Given the description of an element on the screen output the (x, y) to click on. 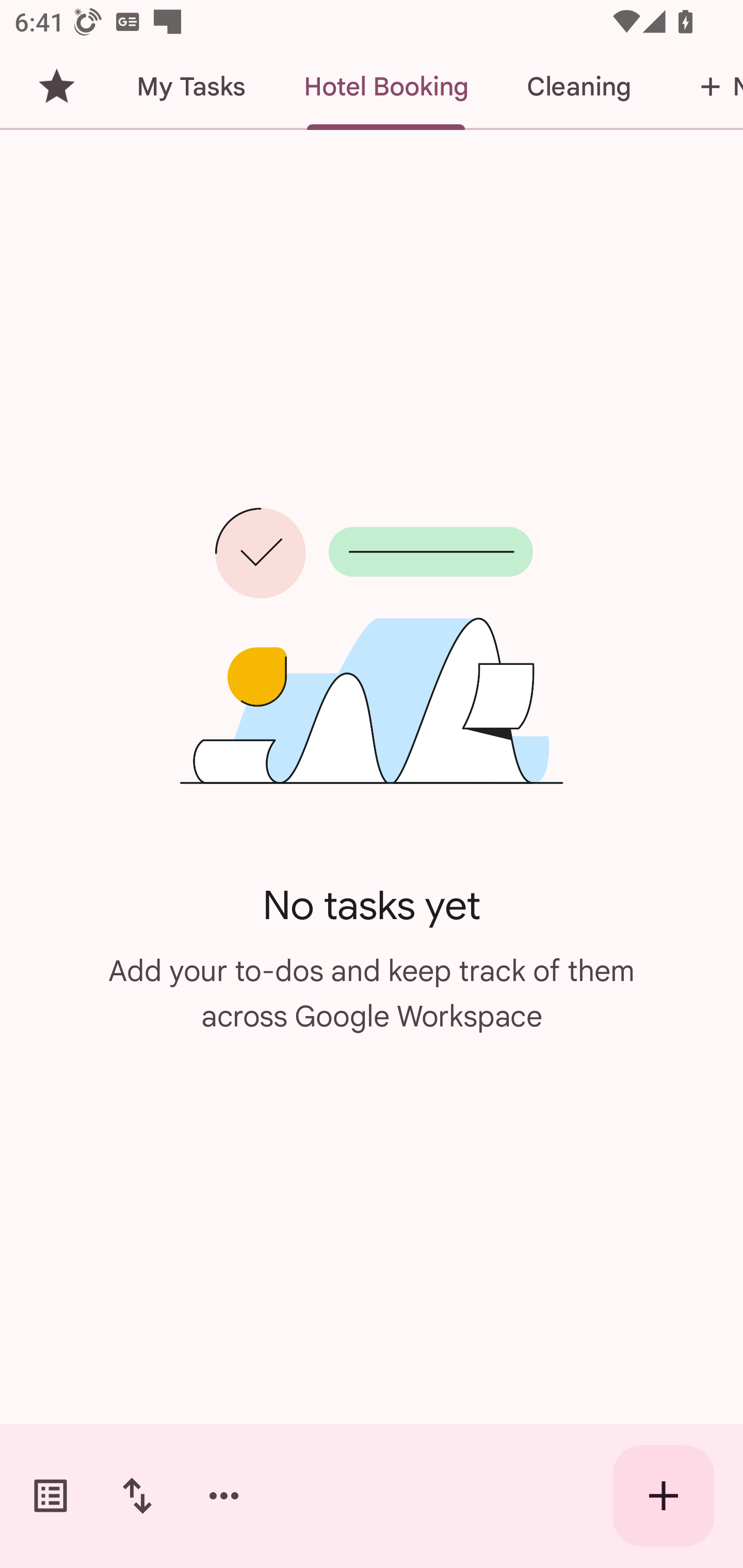
Starred (55, 86)
My Tasks (190, 86)
Cleaning (578, 86)
Switch task lists (50, 1495)
Create new task (663, 1495)
Change sort order (136, 1495)
More options (223, 1495)
